Given the description of an element on the screen output the (x, y) to click on. 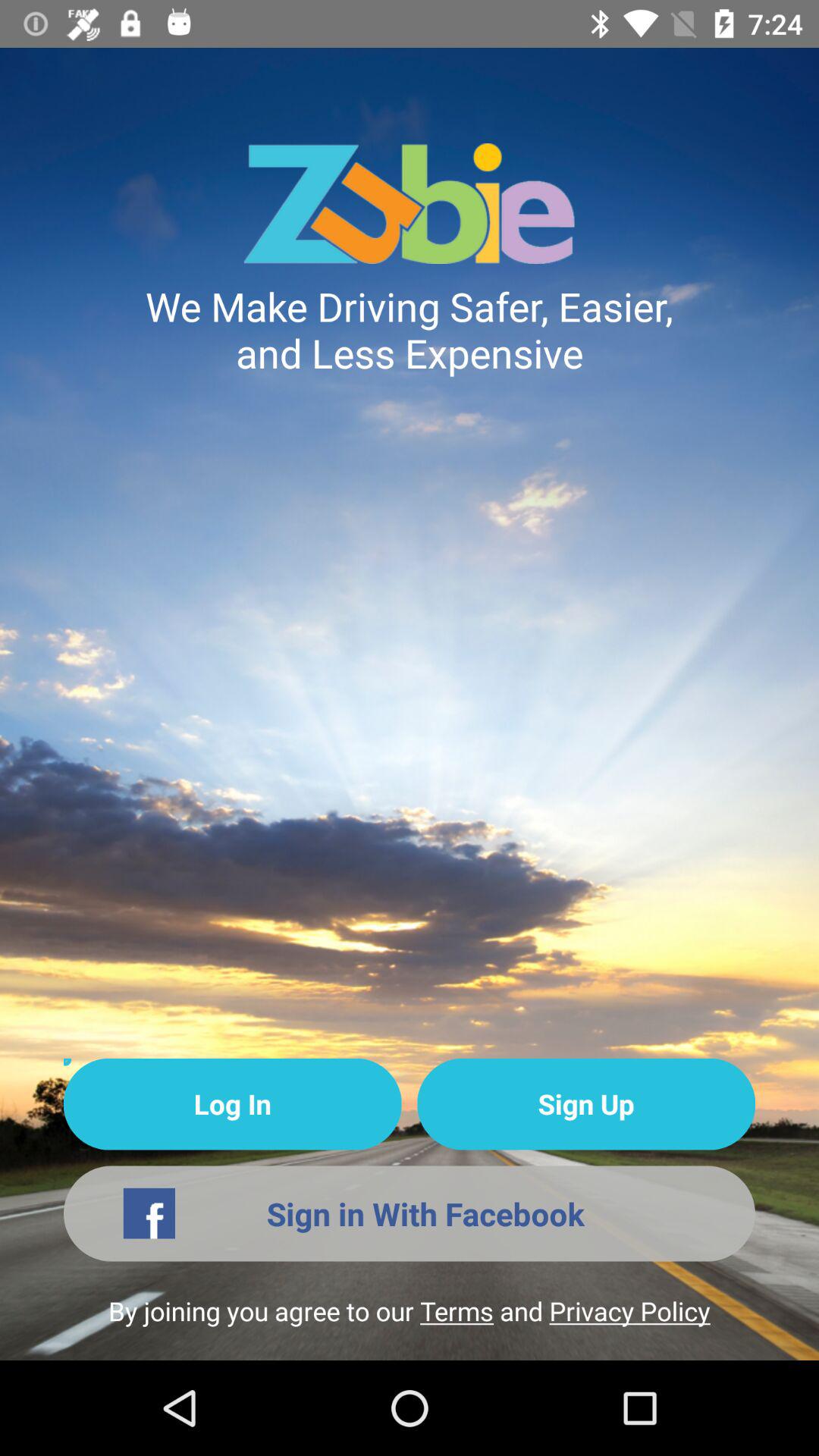
choose the sign in with item (409, 1213)
